Given the description of an element on the screen output the (x, y) to click on. 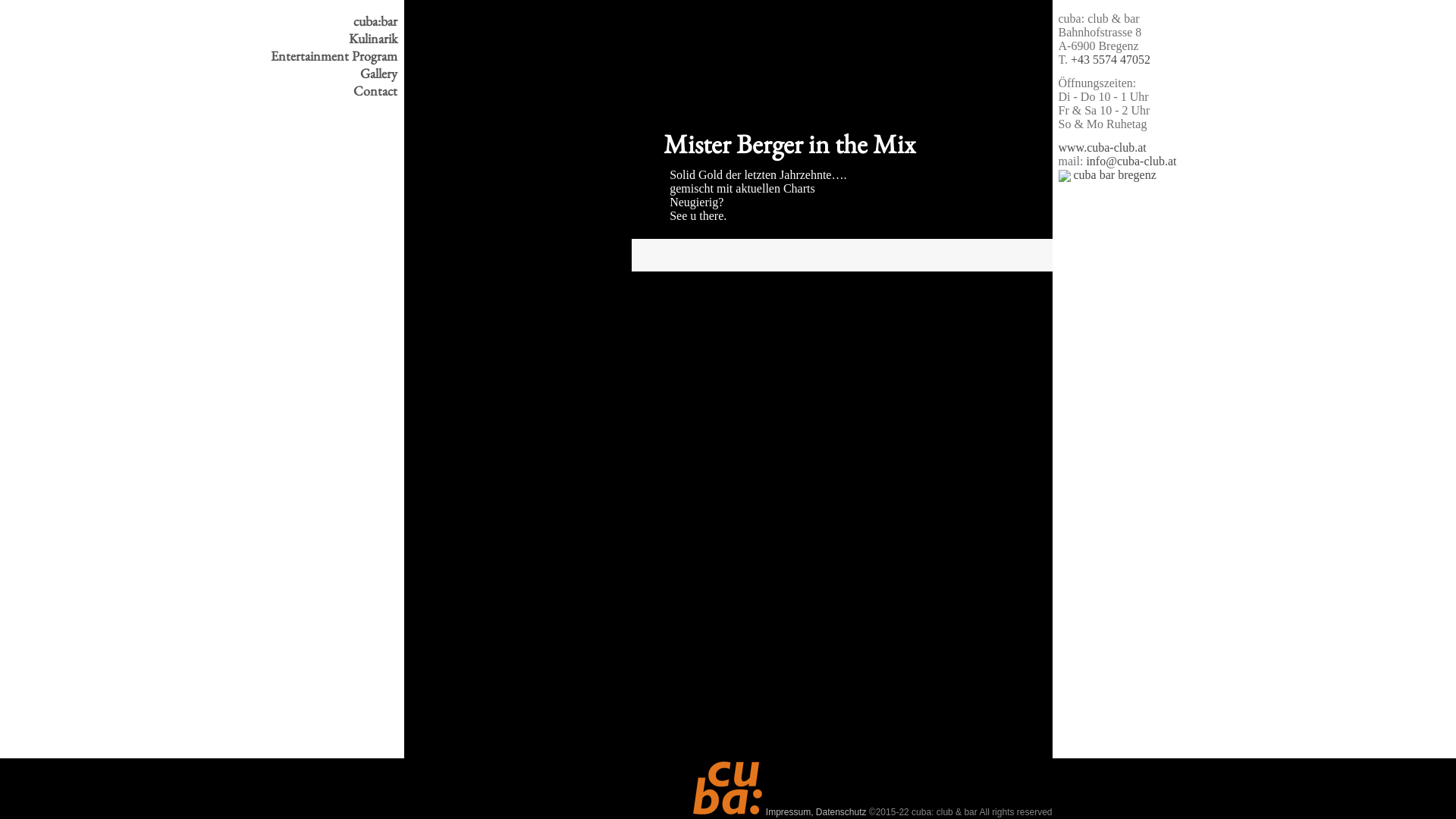
Contact Element type: text (336, 90)
www.cuba-club.at Element type: text (1102, 147)
Impressum, Datenschutz Element type: text (815, 811)
cuba:bar Element type: text (336, 20)
cuba bar bregenz Element type: text (1107, 174)
Entertainment Program Element type: text (336, 55)
+43 5574 47052 Element type: text (1110, 59)
Kulinarik Element type: text (336, 38)
info@cuba-club.at Element type: text (1130, 160)
Gallery Element type: text (336, 72)
